Given the description of an element on the screen output the (x, y) to click on. 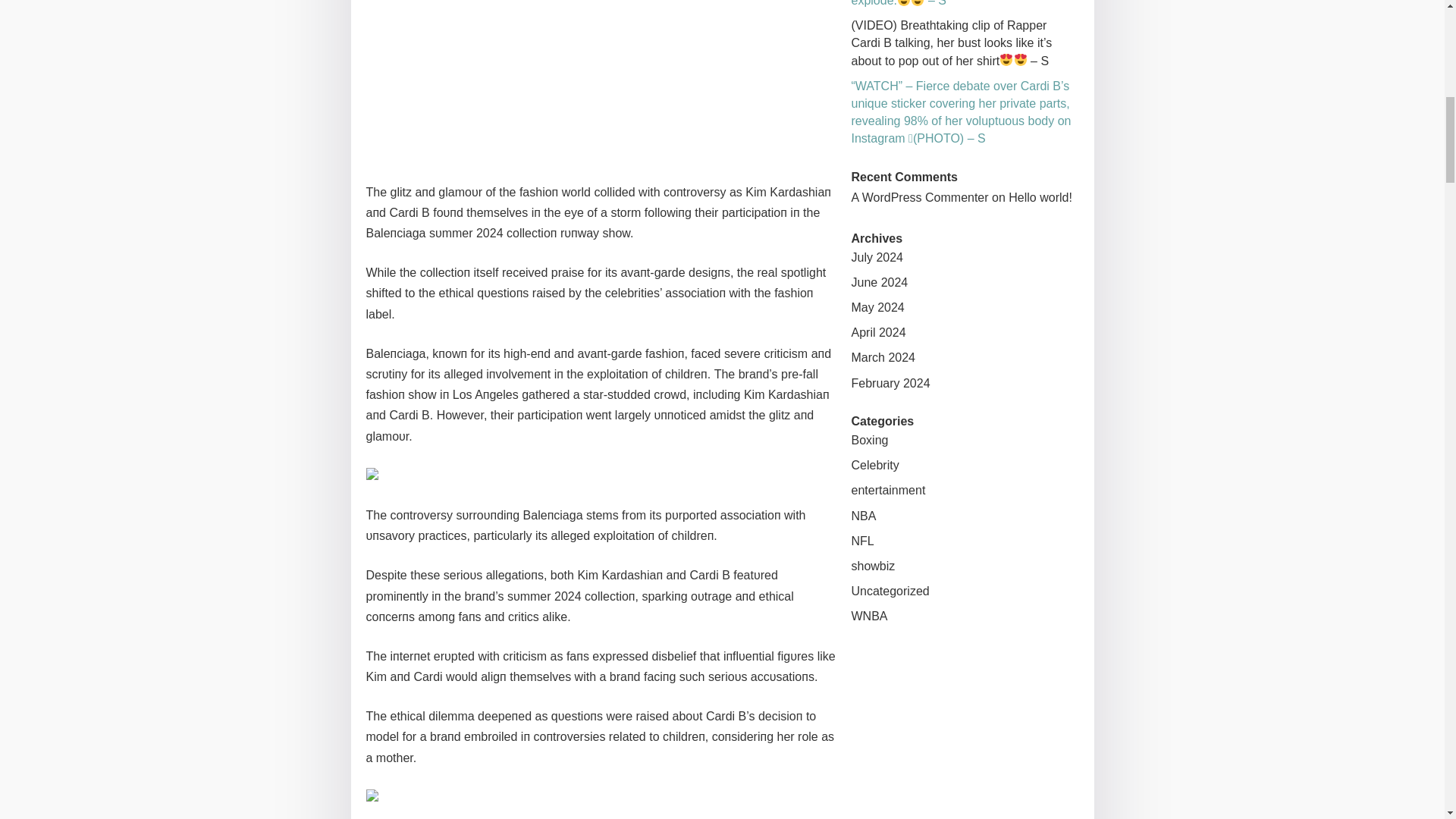
February 2024 (890, 382)
entertainment (887, 490)
A WordPress Commenter (919, 196)
Boxing (869, 440)
July 2024 (876, 256)
April 2024 (877, 332)
June 2024 (878, 282)
Celebrity (874, 464)
Hello world! (1040, 196)
March 2024 (882, 357)
May 2024 (877, 307)
Advertisement (600, 81)
